Given the description of an element on the screen output the (x, y) to click on. 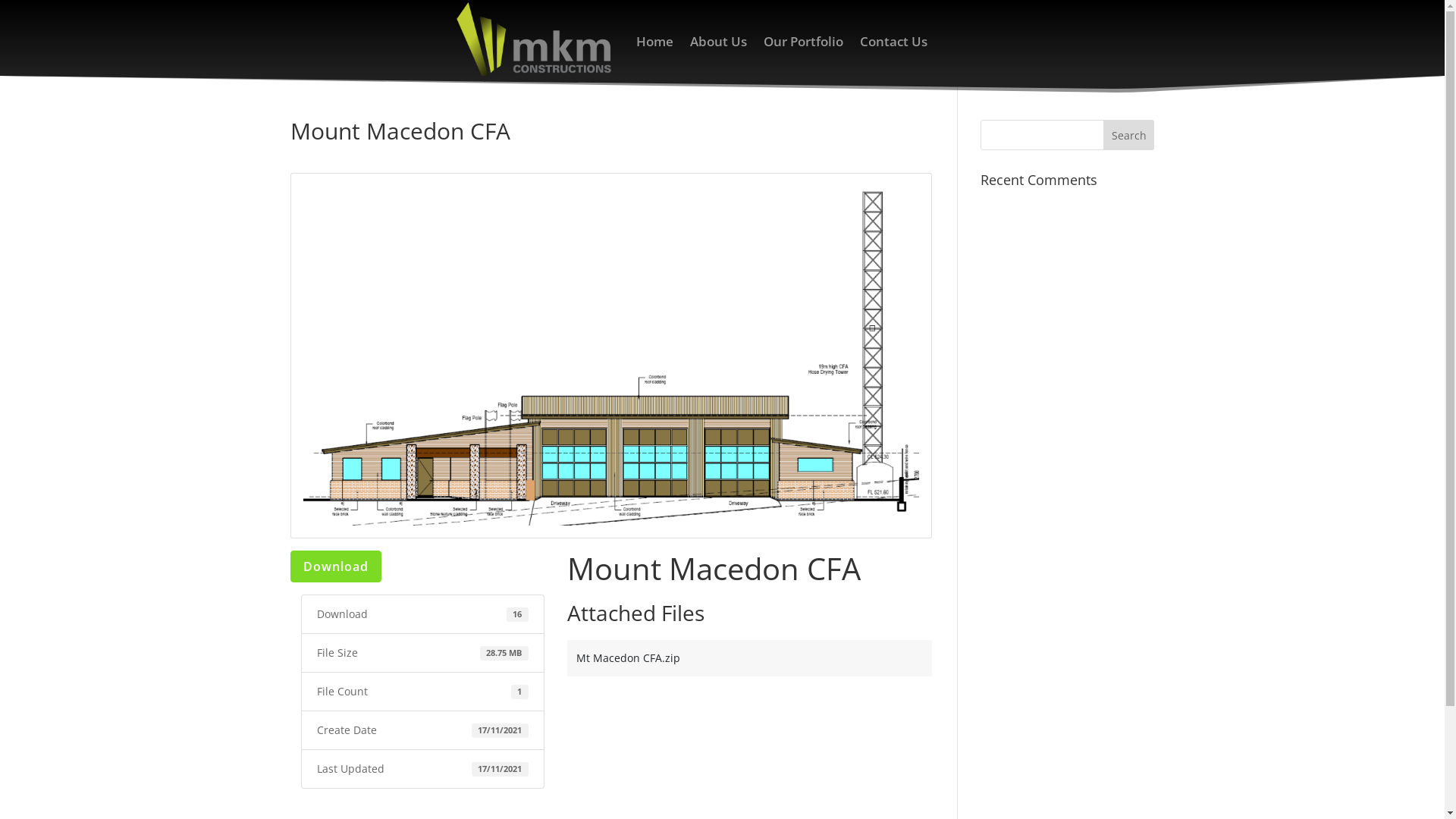
Home Element type: text (654, 42)
Contact Us Element type: text (893, 42)
About Us Element type: text (718, 42)
Search Element type: text (1128, 134)
Download Element type: text (334, 566)
Our Portfolio Element type: text (803, 42)
